Given the description of an element on the screen output the (x, y) to click on. 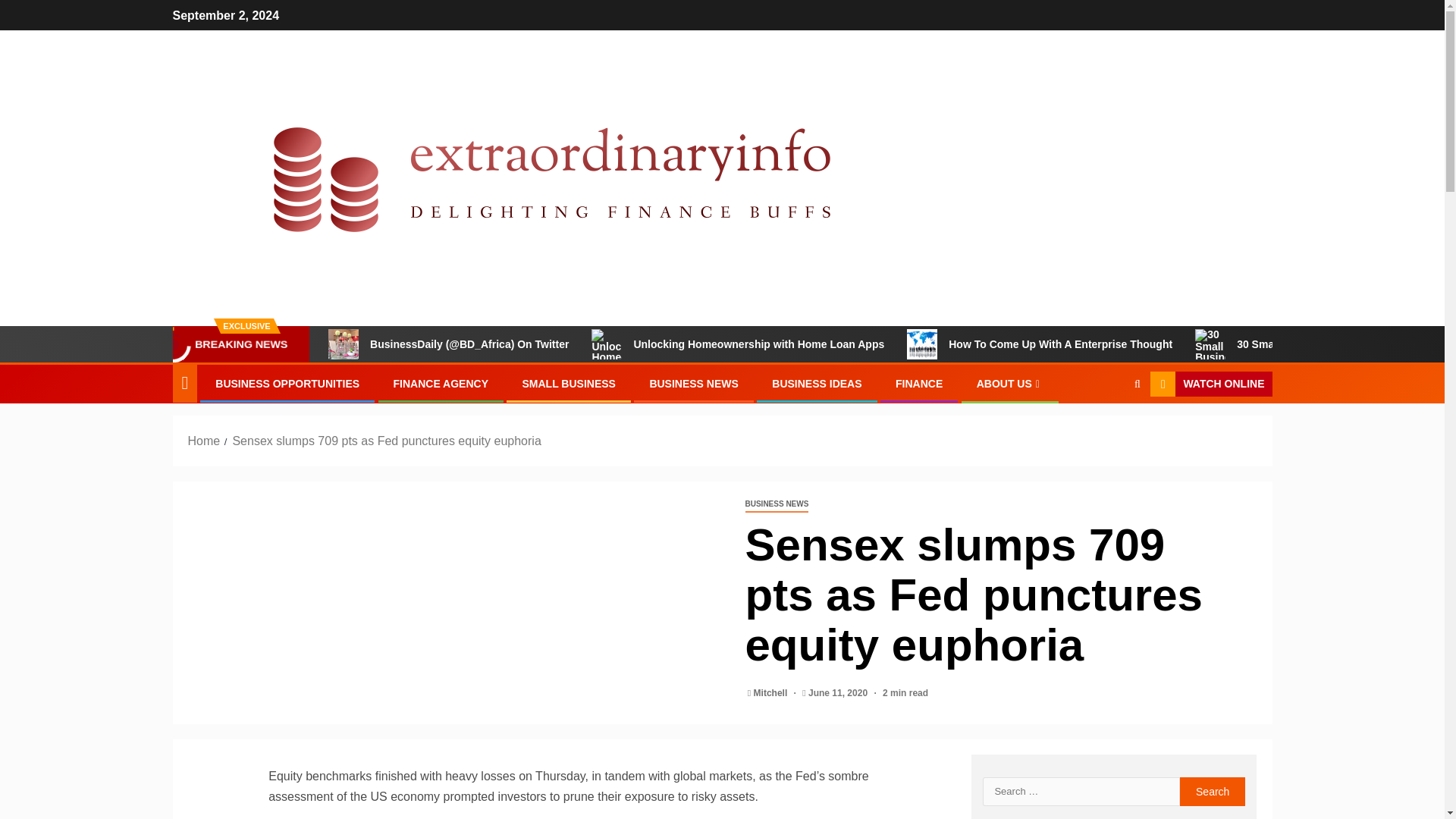
SMALL BUSINESS (567, 383)
BUSINESS OPPORTUNITIES (287, 383)
BUSINESS NEWS (693, 383)
How To Come Up With A Enterprise Thought (922, 344)
FINANCE (918, 383)
Sensex slumps 709 pts as Fed punctures equity euphoria (385, 440)
BUSINESS IDEAS (816, 383)
Unlocking Homeownership with Home Loan Apps (737, 344)
Search (1212, 791)
Search (1212, 791)
